Given the description of an element on the screen output the (x, y) to click on. 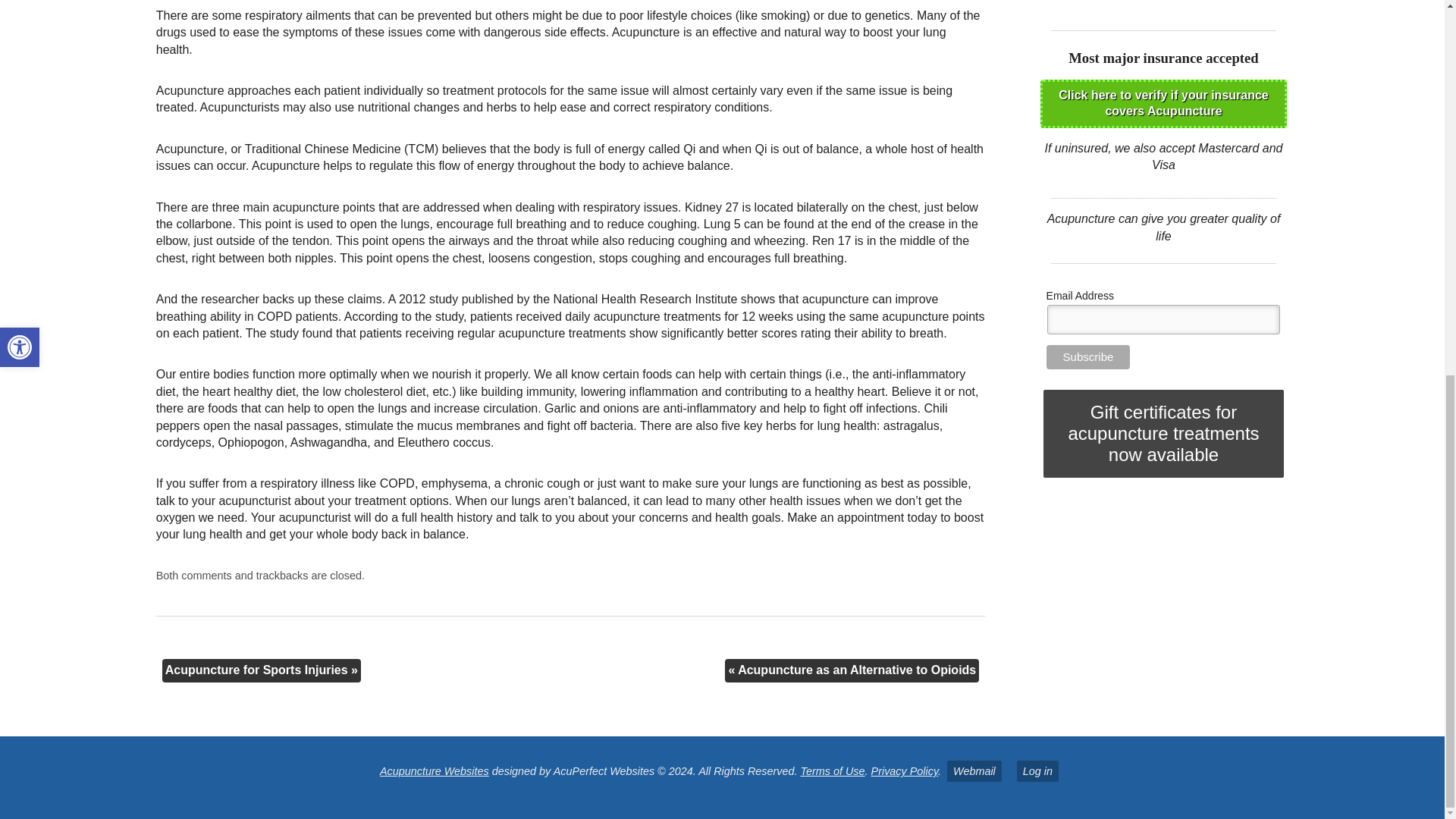
Subscribe (1088, 356)
Acupuncture Websites (434, 770)
Insurance Verification (1164, 103)
